Given the description of an element on the screen output the (x, y) to click on. 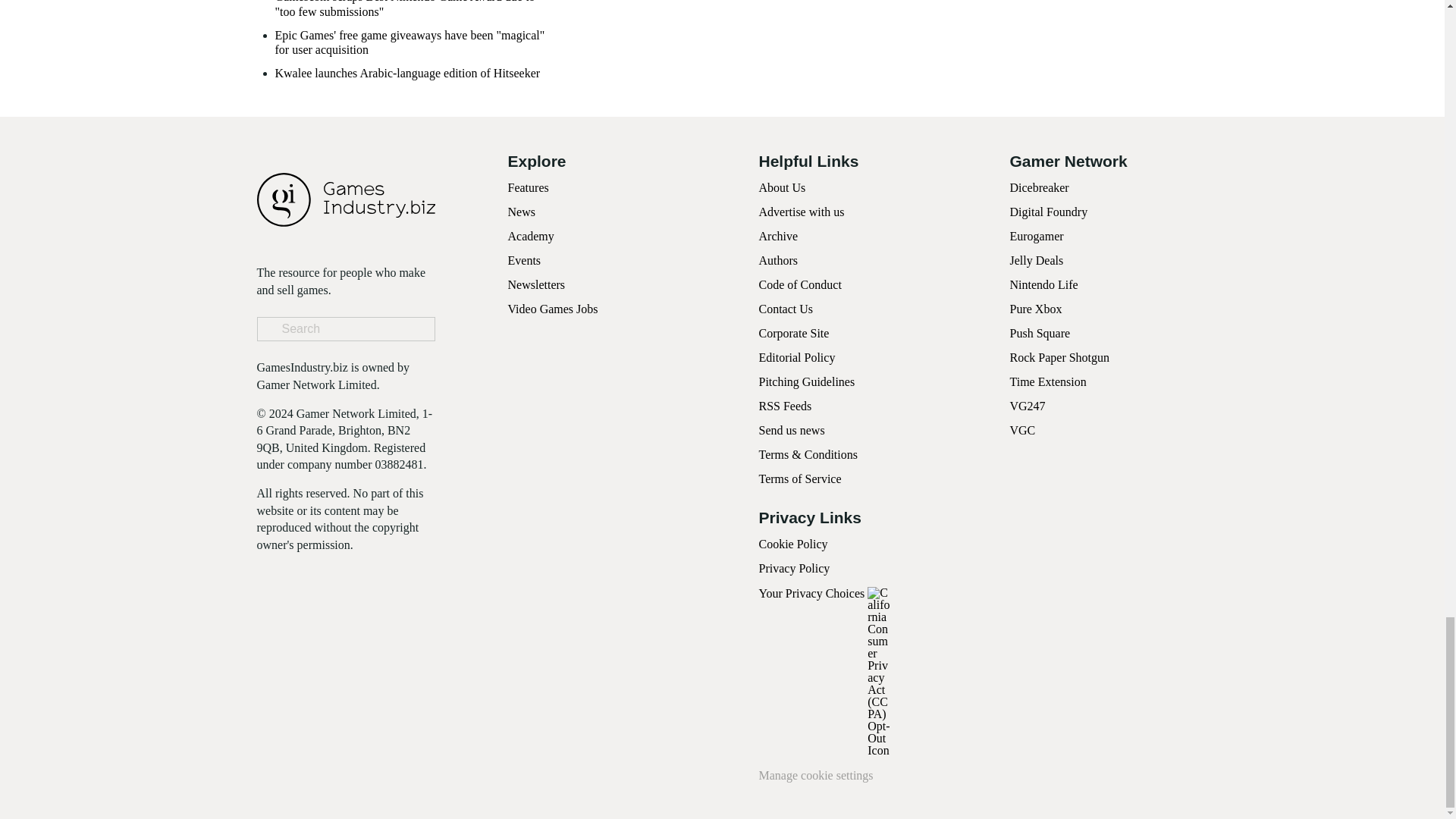
About Us (781, 187)
Video Games Jobs (553, 308)
Newsletters (537, 284)
Academy (531, 236)
News (521, 211)
Features (528, 187)
Events (524, 259)
Advertise with us (801, 211)
